Given the description of an element on the screen output the (x, y) to click on. 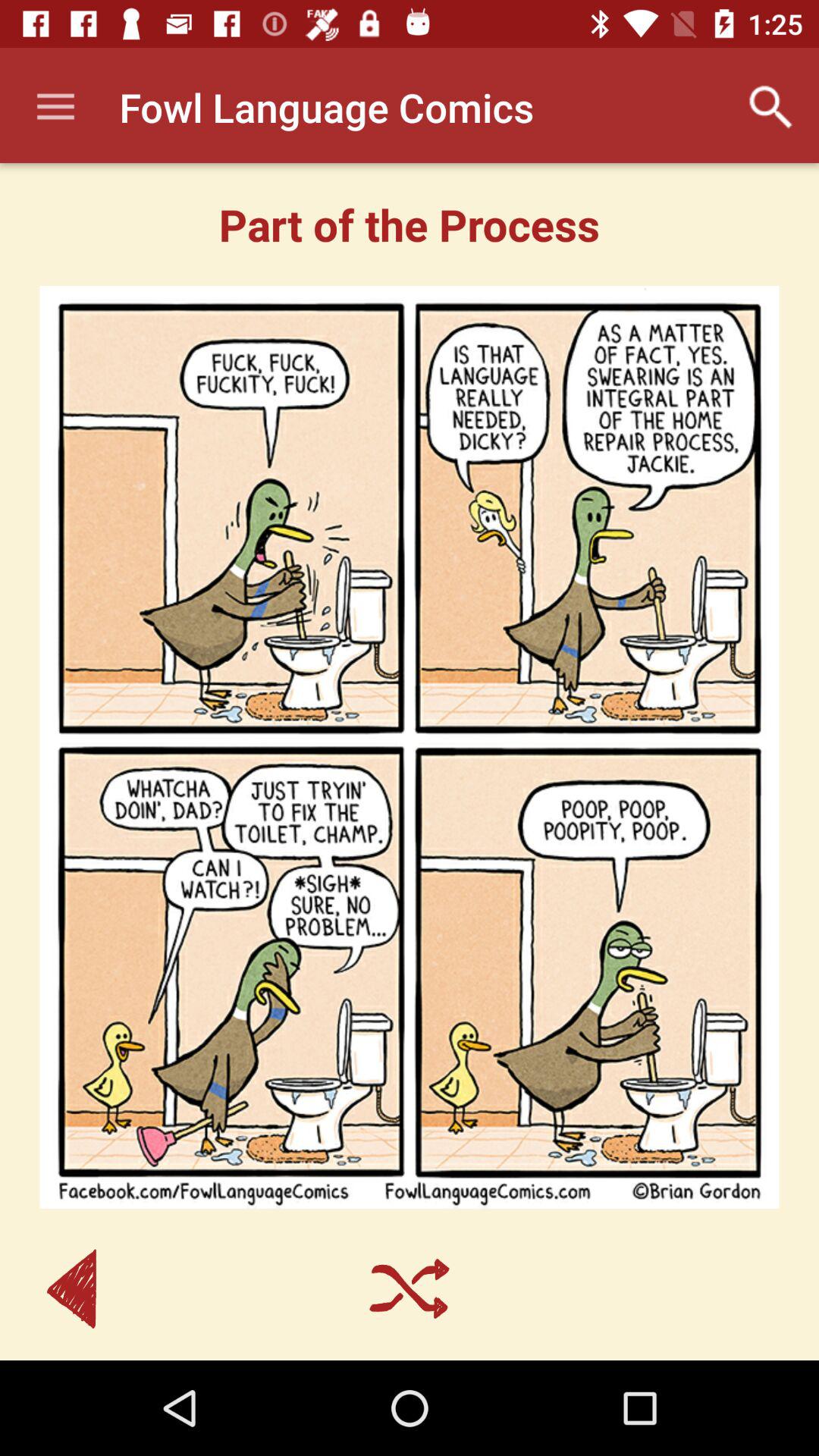
turn on item at the bottom left corner (71, 1288)
